Given the description of an element on the screen output the (x, y) to click on. 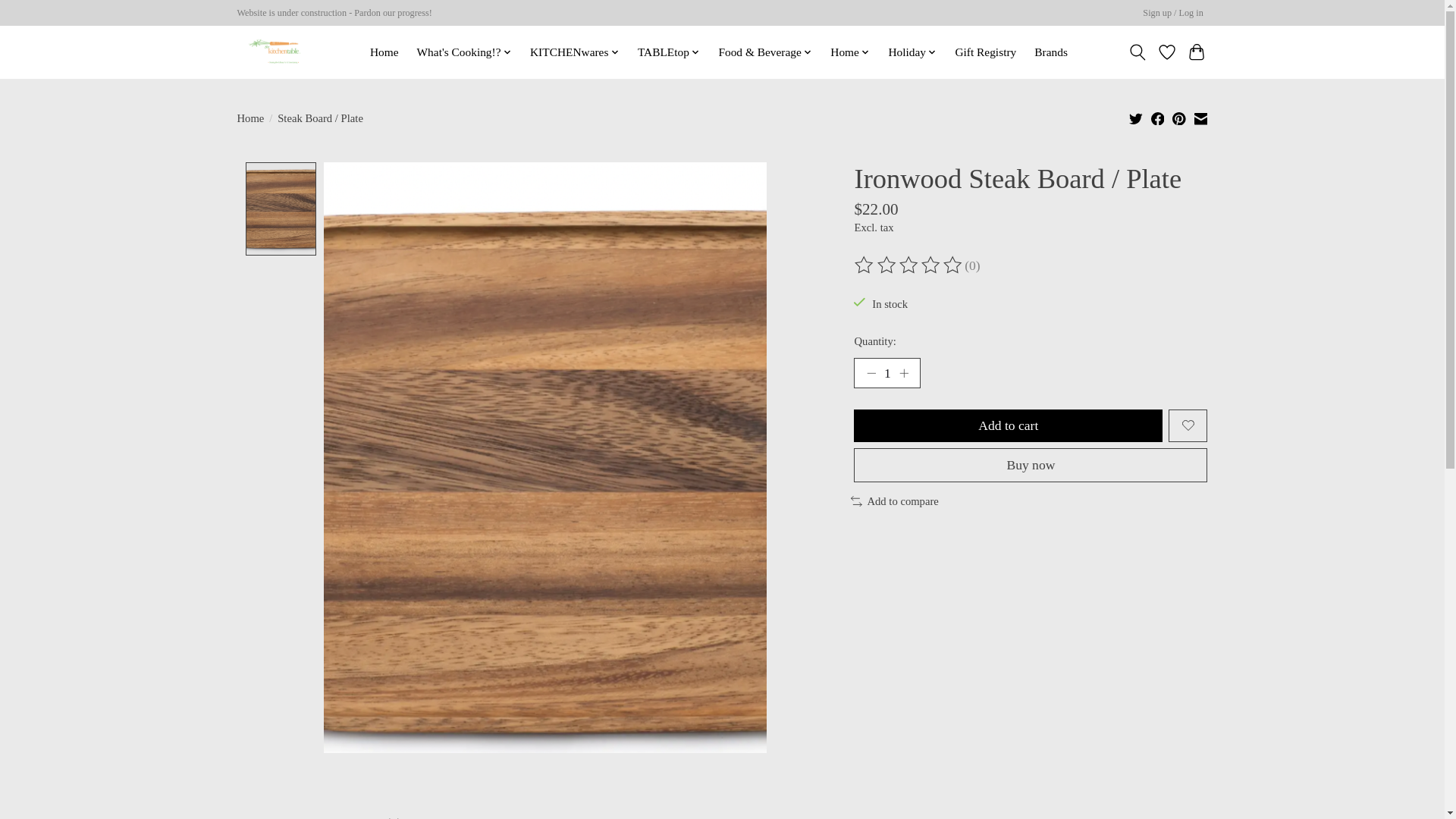
Share on Twitter (1135, 118)
1 (886, 372)
What's Cooking!? (463, 52)
KITCHENwares (574, 52)
Share on Facebook (1157, 118)
Share by Email (1200, 118)
Share on Pinterest (1178, 118)
Home (384, 52)
My account (1173, 13)
The Kitchen Table (276, 51)
